Given the description of an element on the screen output the (x, y) to click on. 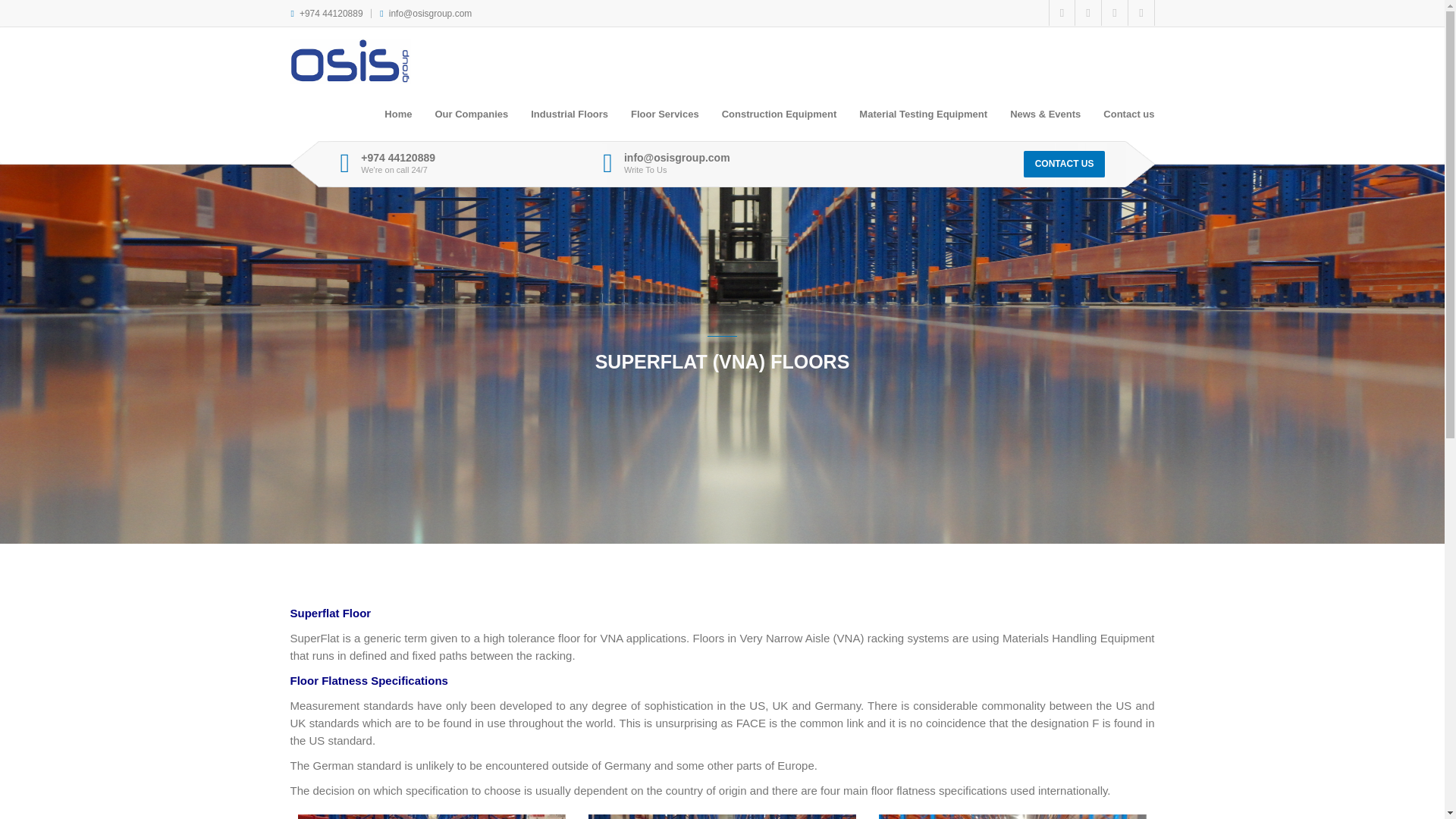
Floor Services (665, 117)
Our Companies (471, 117)
CONTACT US (1064, 163)
Industrial Floors (569, 117)
Construction Equipment (779, 117)
Home (397, 117)
Contact us (1129, 117)
Material Testing Equipment (922, 117)
